Given the description of an element on the screen output the (x, y) to click on. 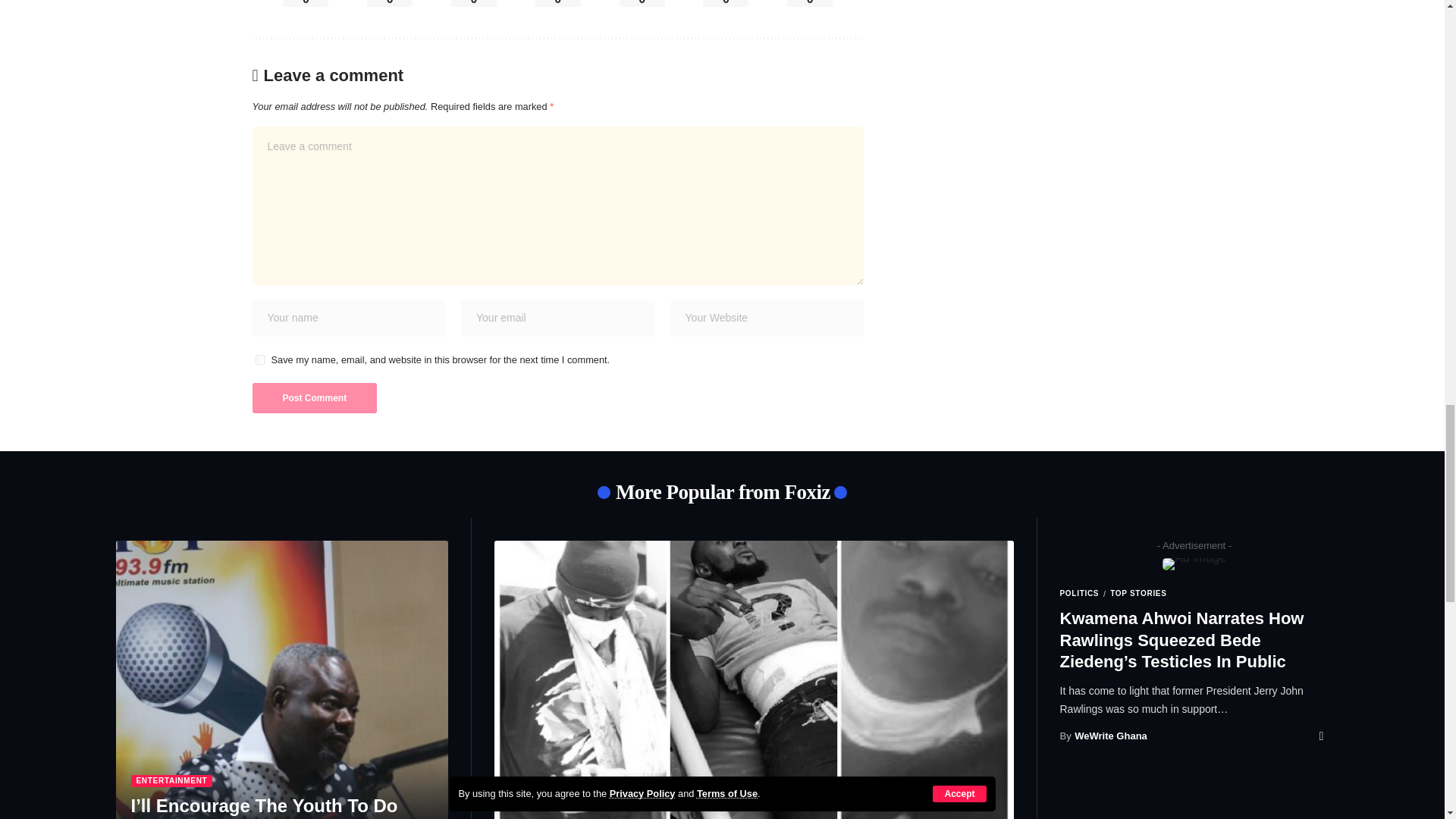
yes (259, 359)
Post Comment (314, 398)
